Given the description of an element on the screen output the (x, y) to click on. 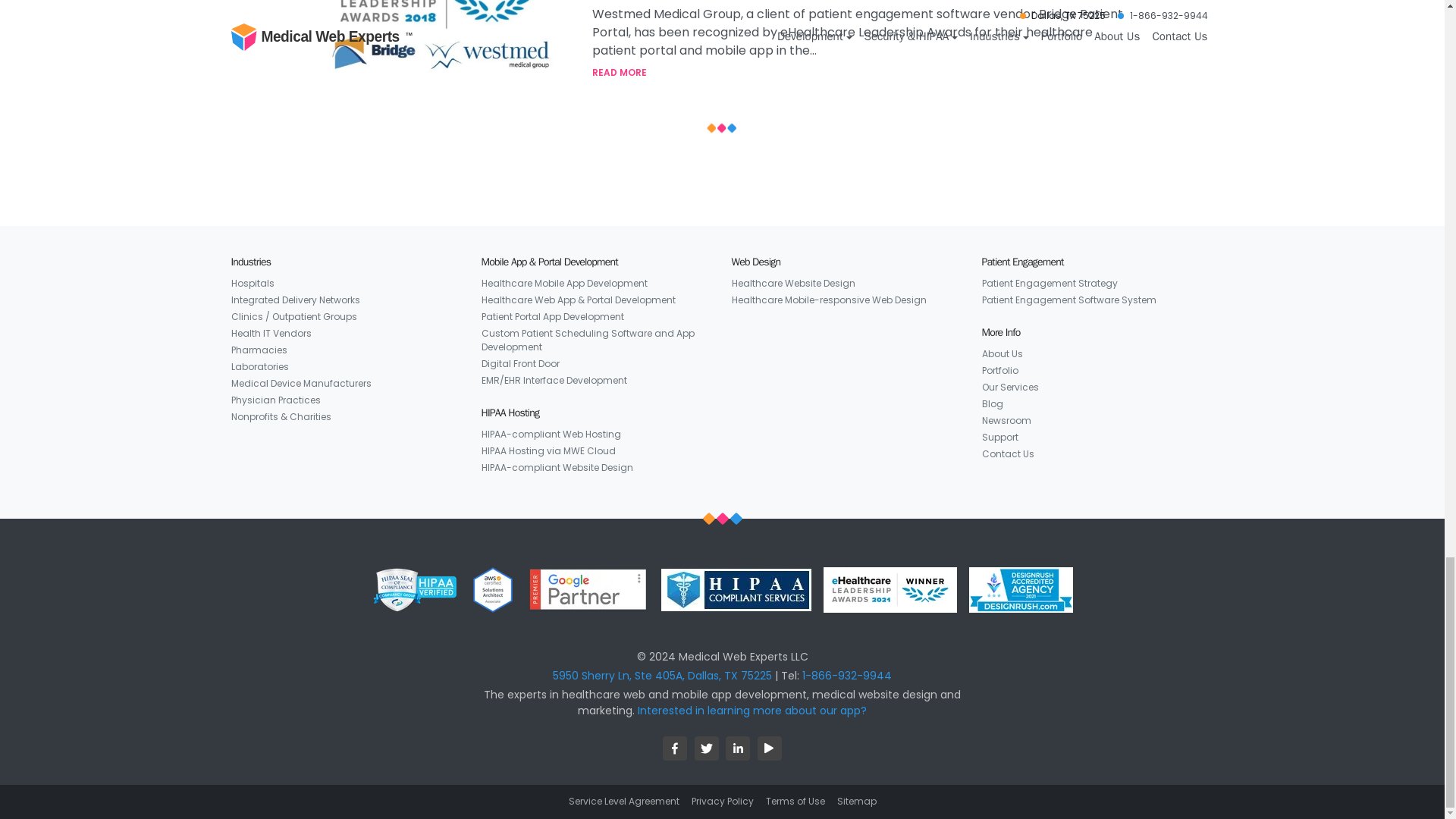
Pharmacies (258, 350)
Integrated Delivery Networks (294, 299)
Laboratories (259, 366)
Hospitals (251, 283)
Medical Device Manufacturers (300, 383)
Physician Practices (275, 400)
Custom Patient Scheduling Software and App Development (596, 340)
Patient Portal App Development (551, 316)
Health IT Vendors (270, 333)
READ MORE (860, 72)
Healthcare Mobile App Development (563, 283)
